Given the description of an element on the screen output the (x, y) to click on. 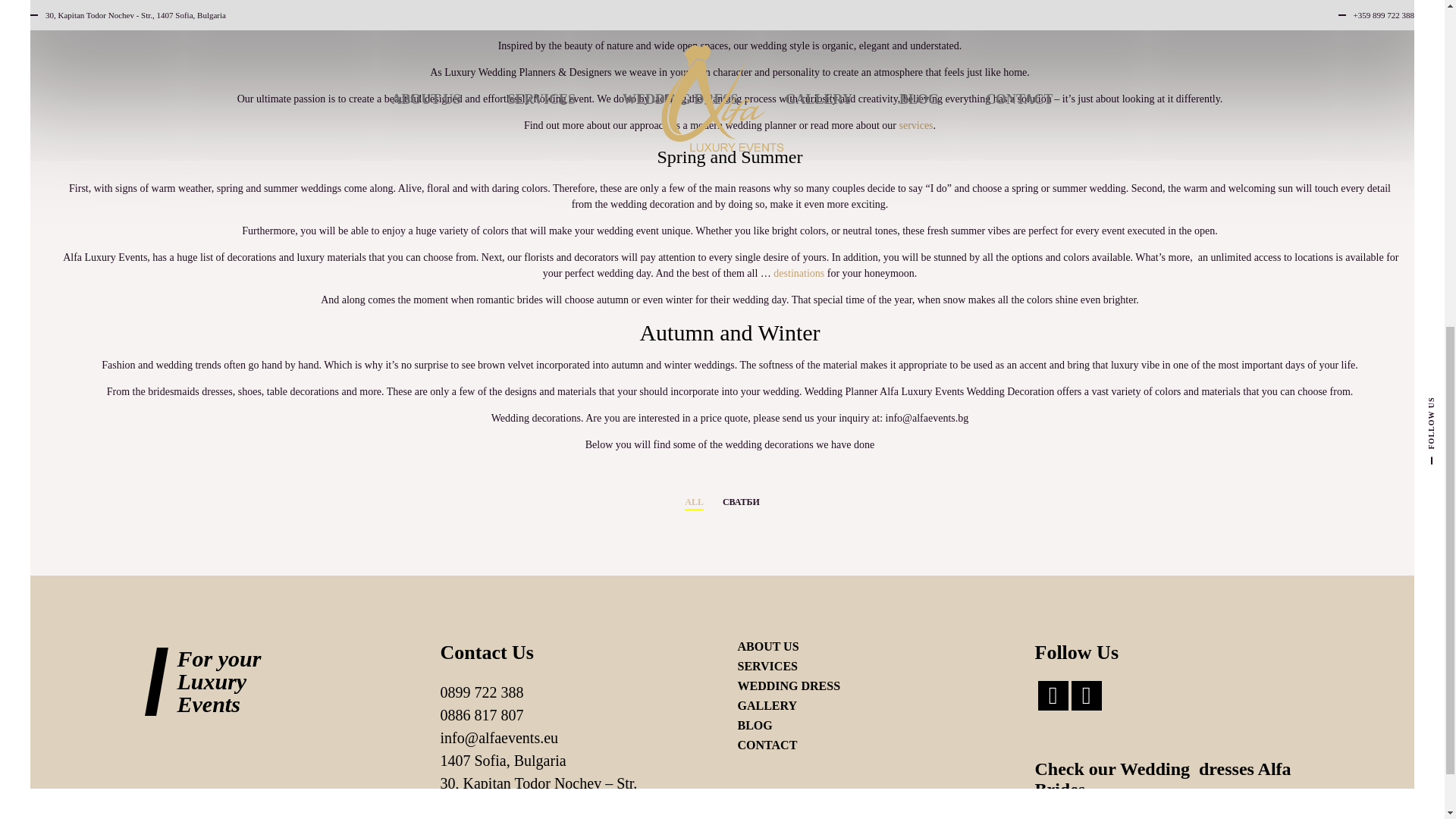
SERVICES (766, 666)
services (915, 125)
BLOG (753, 725)
ALL (693, 501)
destinations (798, 273)
Facebook (1051, 695)
ABOUT US (766, 645)
Check our Wedding  dresses Alfa Brides (1161, 779)
GALLERY (766, 705)
WEDDING DRESS (788, 685)
